Given the description of an element on the screen output the (x, y) to click on. 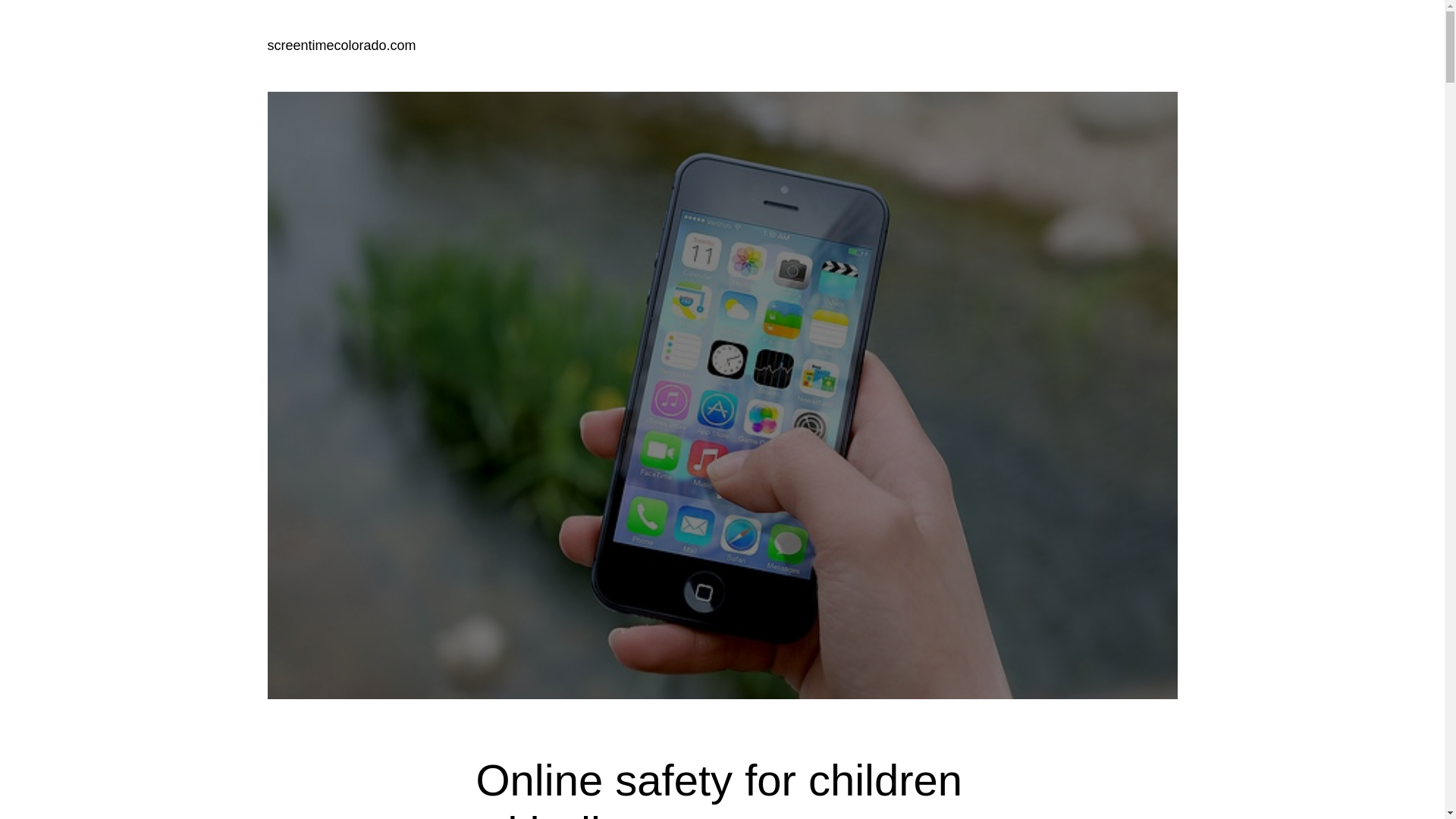
screentimecolorado.com (340, 45)
